Given the description of an element on the screen output the (x, y) to click on. 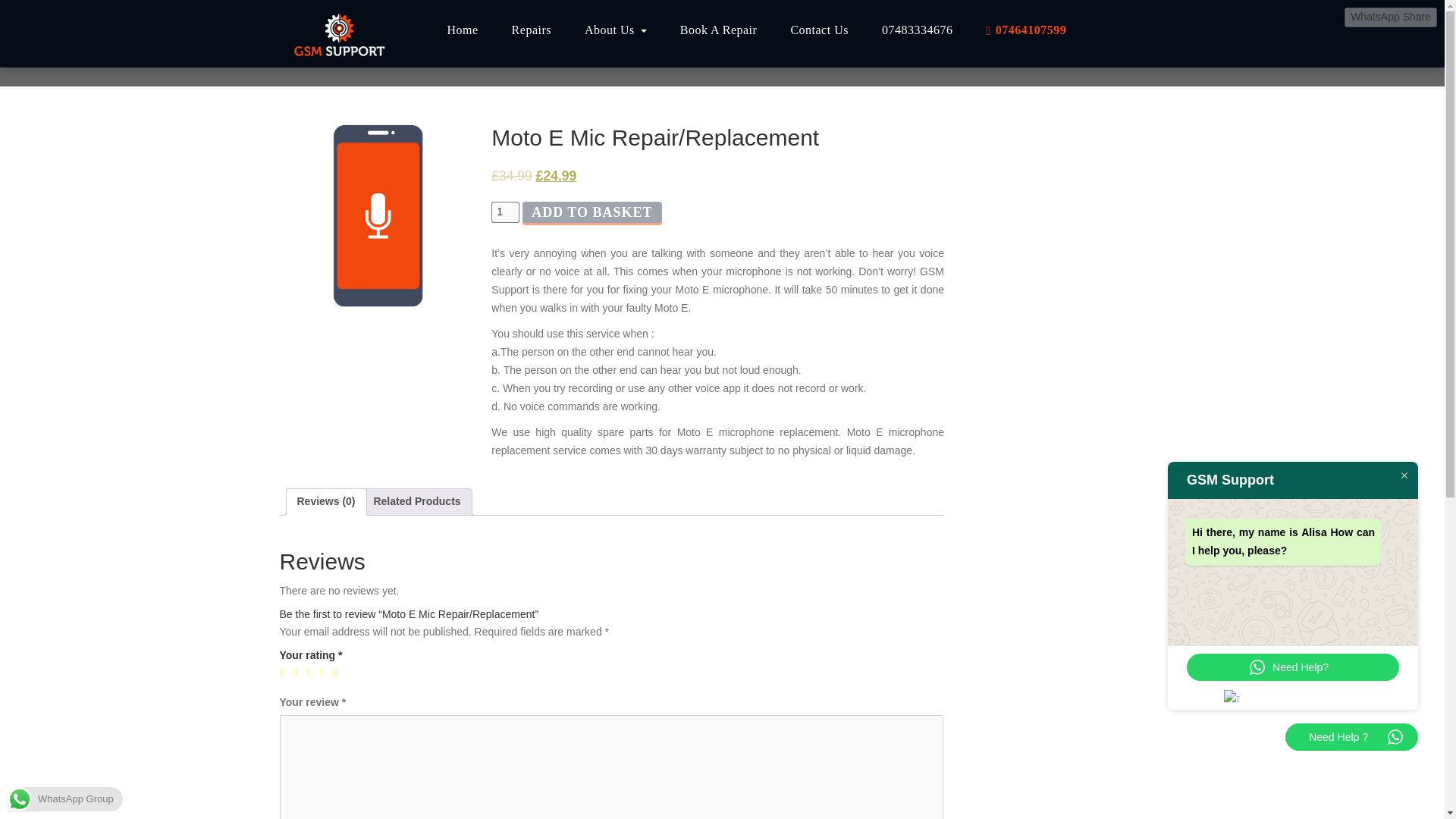
WhatsApp Share (1390, 15)
07483334676 (916, 30)
Businesso (338, 31)
1 (505, 211)
ADD TO BASKET (591, 218)
Book A Repair (718, 30)
Repairs (531, 30)
About Us (615, 30)
07464107599 (1026, 30)
2 (297, 672)
